Given the description of an element on the screen output the (x, y) to click on. 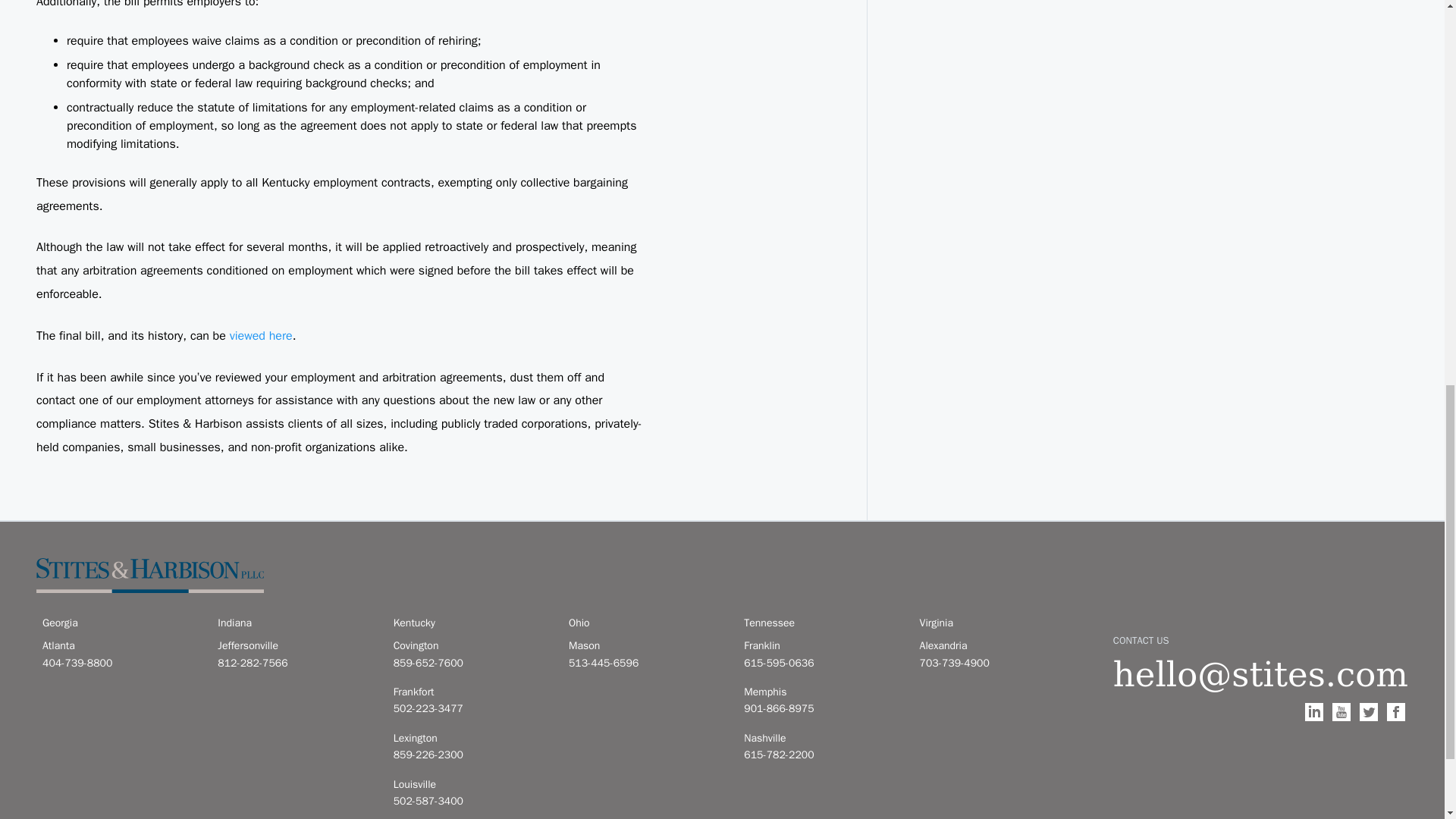
901-866-8975 (822, 709)
812-282-7566 (295, 663)
Louisville (471, 784)
859-652-7600 (471, 663)
Nashville (822, 738)
Alexandria (998, 646)
859-226-2300 (471, 754)
513-445-6596 (647, 663)
615-782-2200 (822, 754)
Franklin (822, 646)
